Given the description of an element on the screen output the (x, y) to click on. 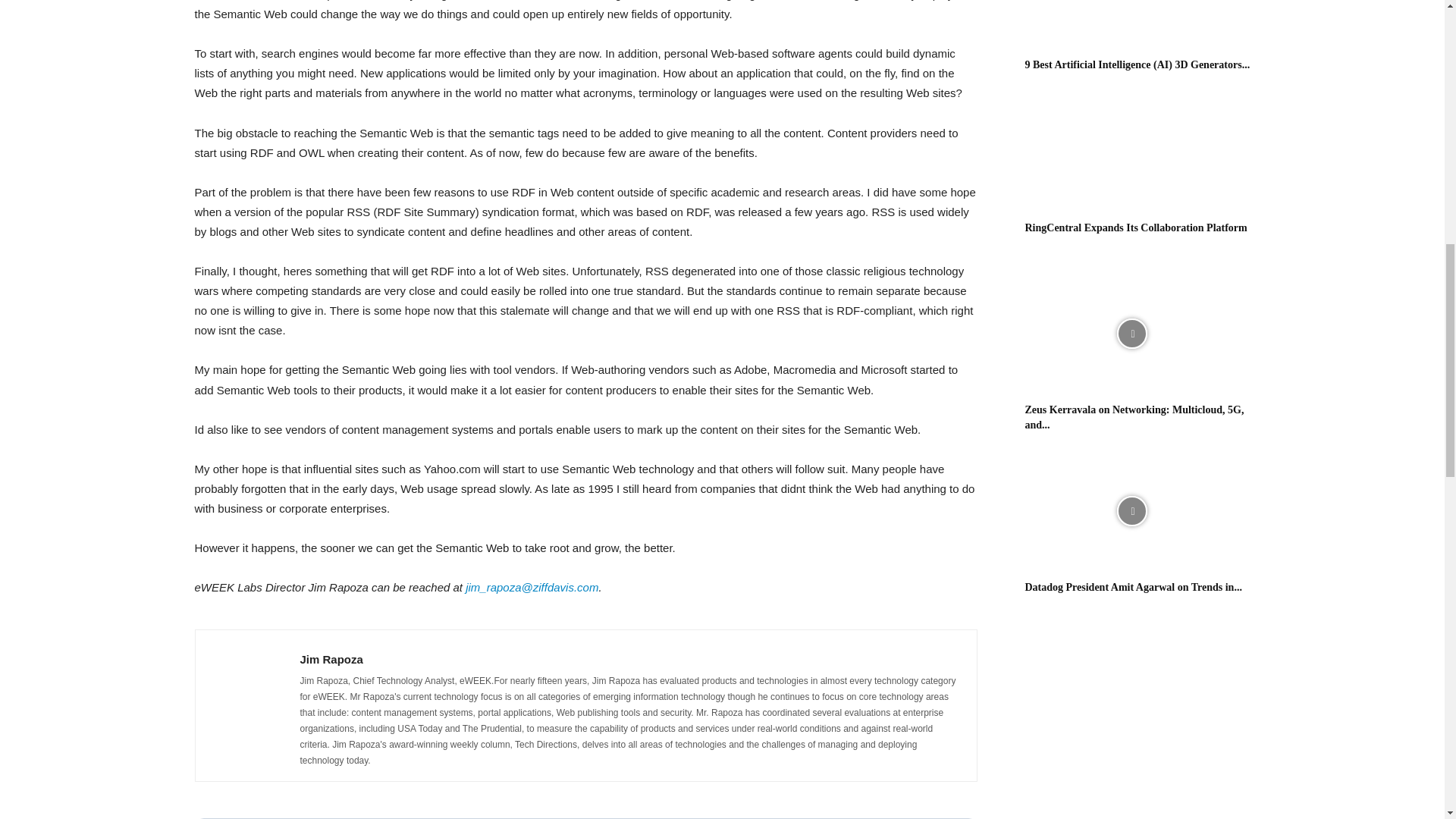
RingCentral Expands Its Collaboration Platform (1131, 151)
Zeus Kerravala on Networking: Multicloud, 5G, and Automation (1131, 333)
Zeus Kerravala on Networking: Multicloud, 5G, and Automation (1134, 417)
RingCentral Expands Its Collaboration Platform (1136, 227)
